Given the description of an element on the screen output the (x, y) to click on. 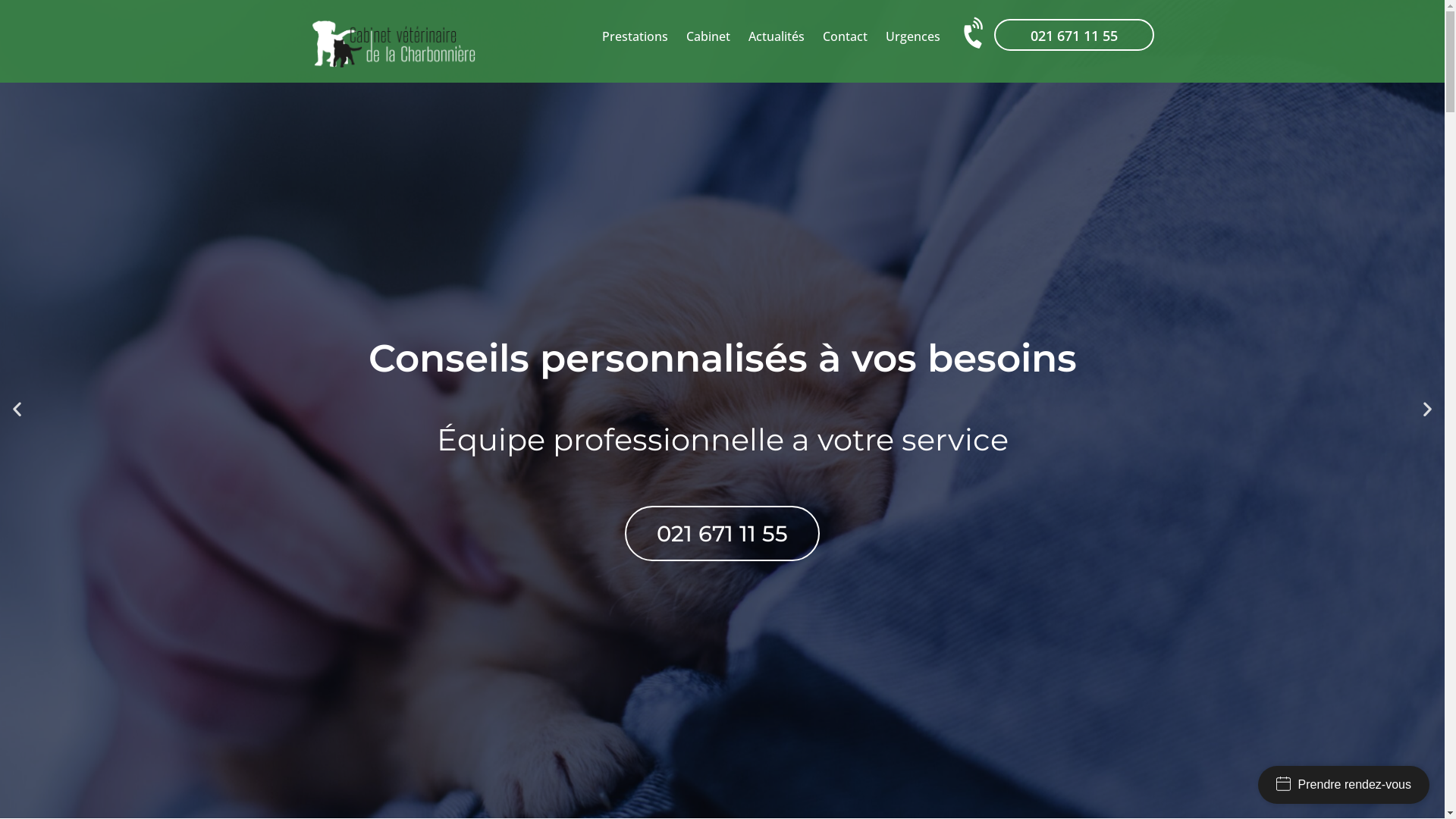
Prendre rendez-vous Element type: text (1343, 784)
Cabinet Element type: text (708, 35)
Prestations Element type: text (635, 35)
021 671 11 55 Element type: text (721, 533)
Contact Element type: text (844, 35)
Urgences Element type: text (912, 35)
